Given the description of an element on the screen output the (x, y) to click on. 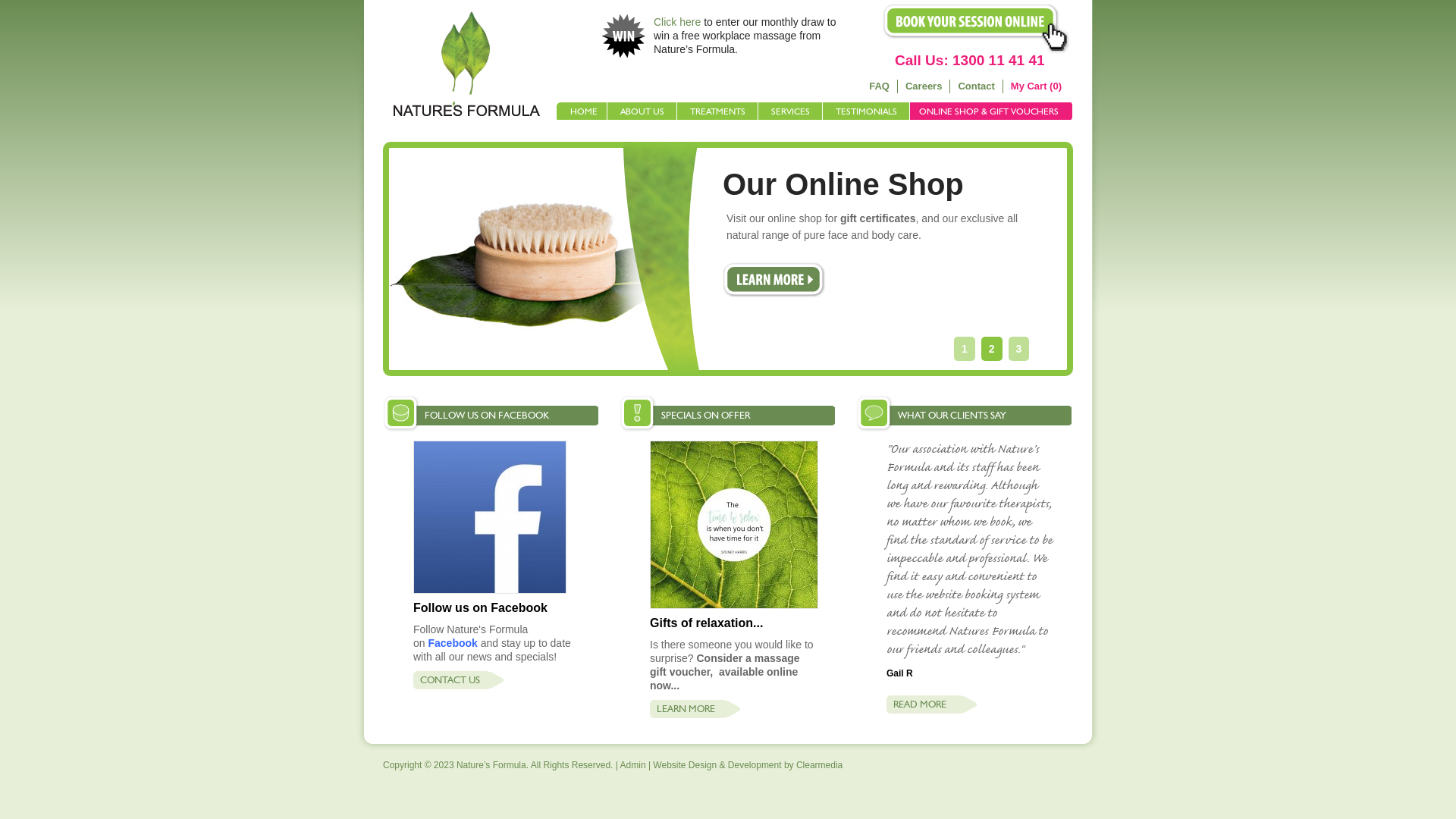
SERVICES Element type: text (790, 110)
CONTACT US Element type: text (490, 680)
Click here Element type: text (676, 21)
2 Element type: text (991, 348)
Website Design & Development by Clearmedia Element type: text (747, 764)
ABOUT US Element type: text (642, 110)
Careers Element type: text (923, 85)
3 Element type: text (1018, 348)
TREATMENTS Element type: text (717, 110)
Facebook Element type: text (451, 643)
1300 11 41 41 Element type: text (998, 60)
FAQ Element type: text (879, 85)
My Cart (0) Element type: text (1036, 85)
ONLINE SHOP & GIFT VOUCHERS Element type: text (991, 110)
LEARN MORE Element type: text (726, 708)
1 Element type: text (964, 348)
Contact Element type: text (975, 85)
HOME Element type: text (581, 110)
TESTIMONIALS Element type: text (866, 110)
Admin Element type: text (633, 764)
READ MORE Element type: text (963, 704)
